Given the description of an element on the screen output the (x, y) to click on. 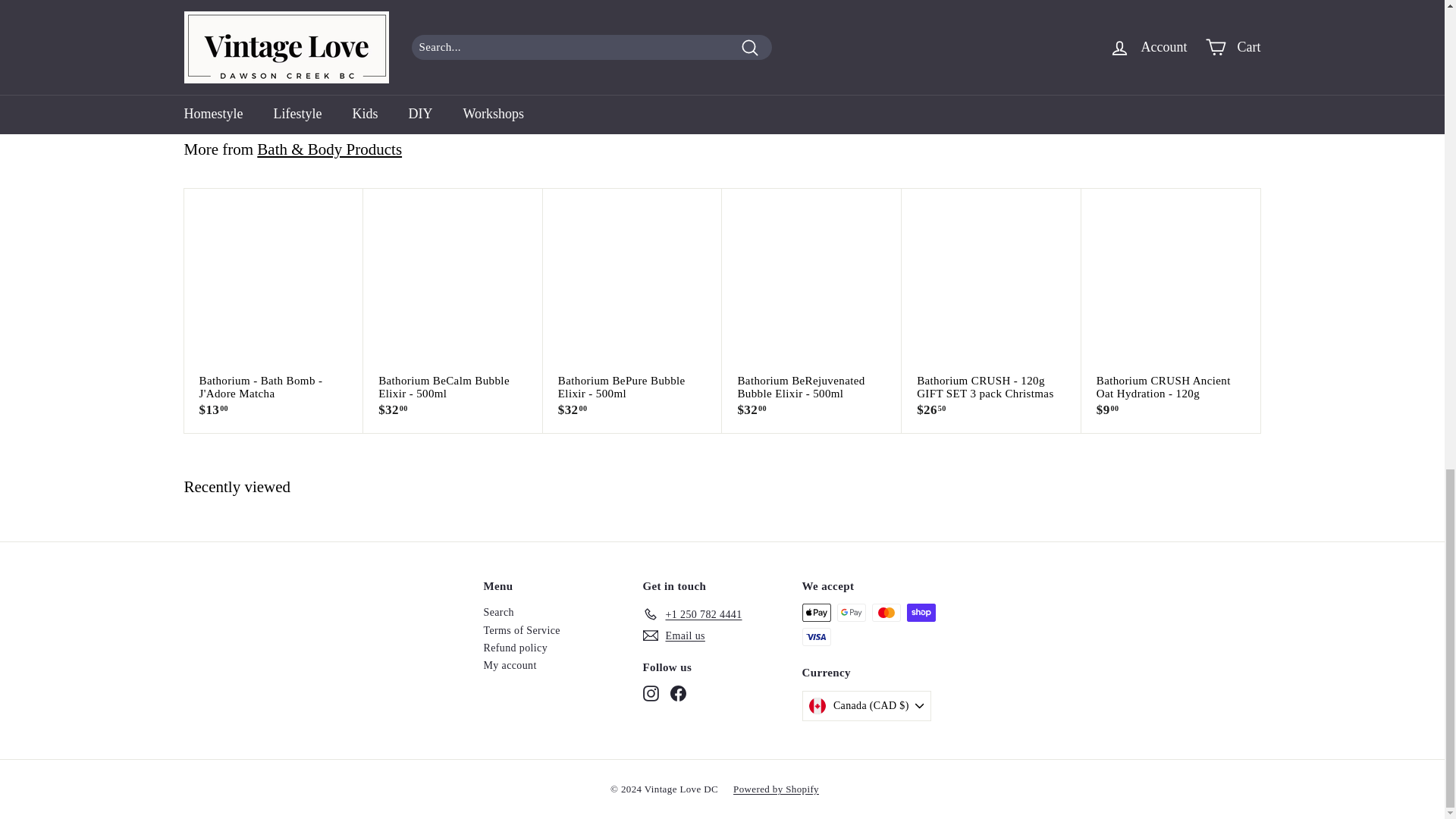
Mastercard (886, 612)
Google Pay (851, 612)
Apple Pay (816, 612)
